Given the description of an element on the screen output the (x, y) to click on. 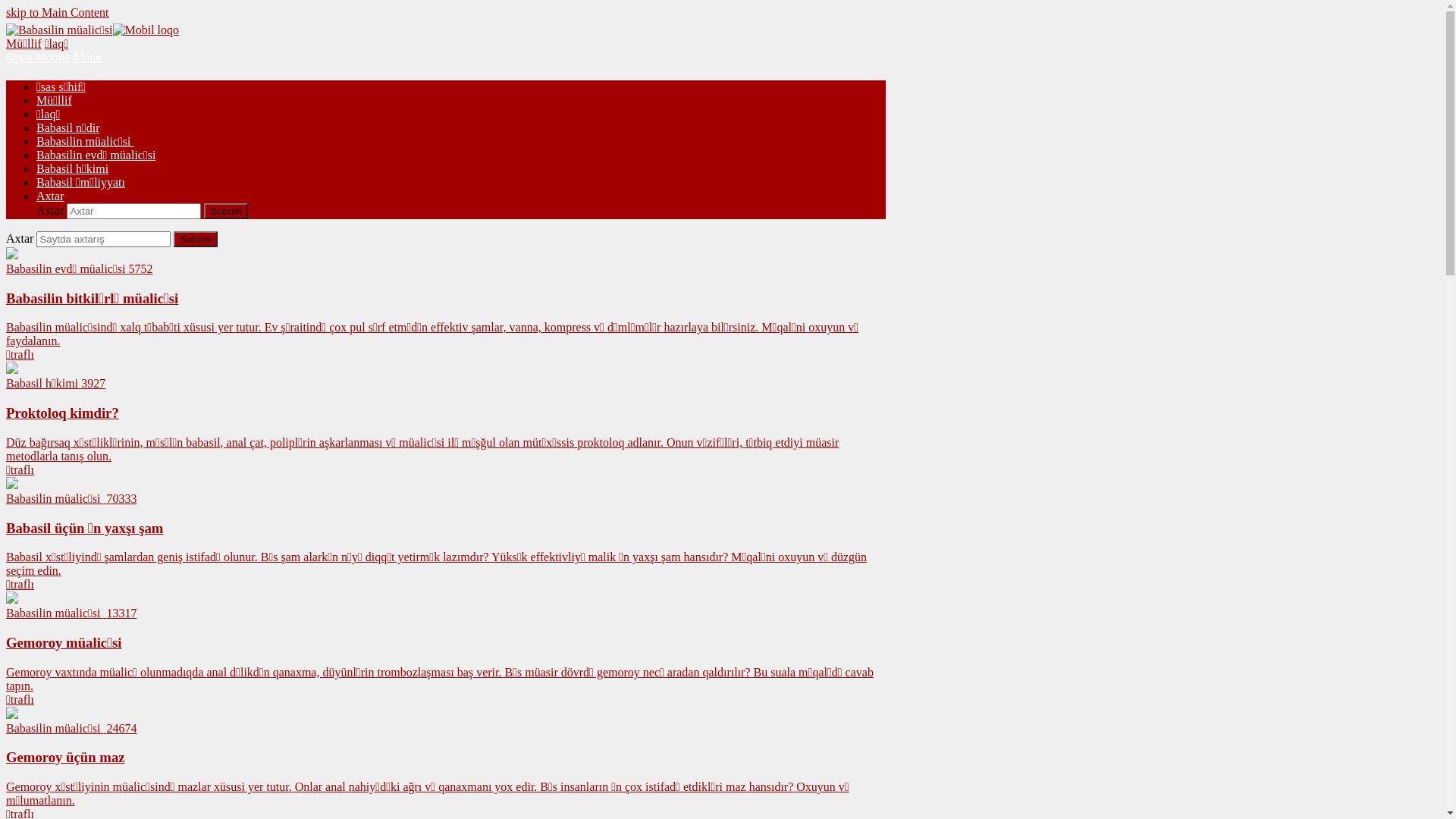
skip to Main Content Element type: text (57, 12)
Submit Element type: text (194, 239)
Axtar Element type: text (49, 195)
Submit Element type: text (225, 211)
Open Mobile Menu Element type: text (53, 56)
